Given the description of an element on the screen output the (x, y) to click on. 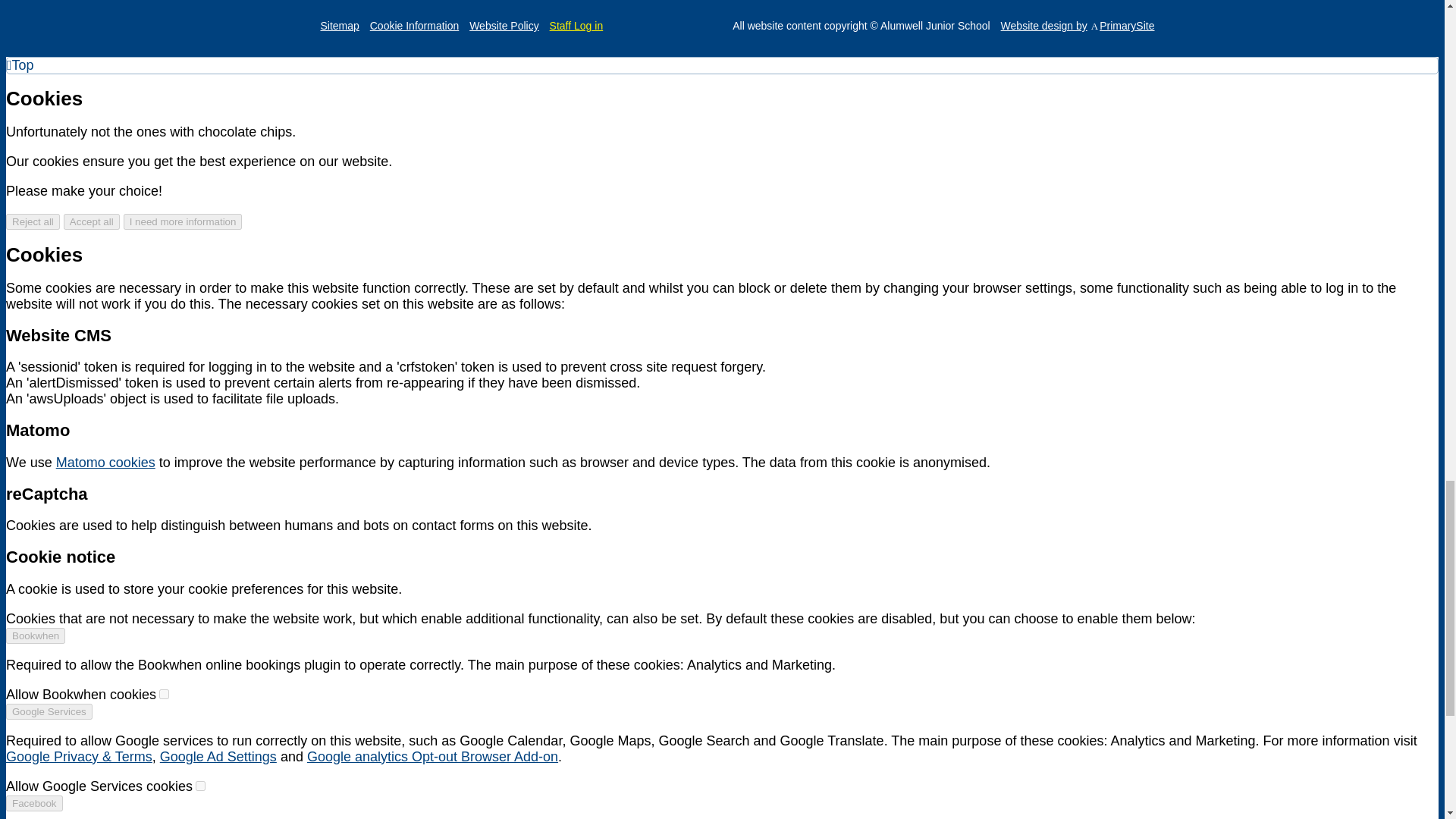
toggle (200, 786)
toggle (163, 694)
